Given the description of an element on the screen output the (x, y) to click on. 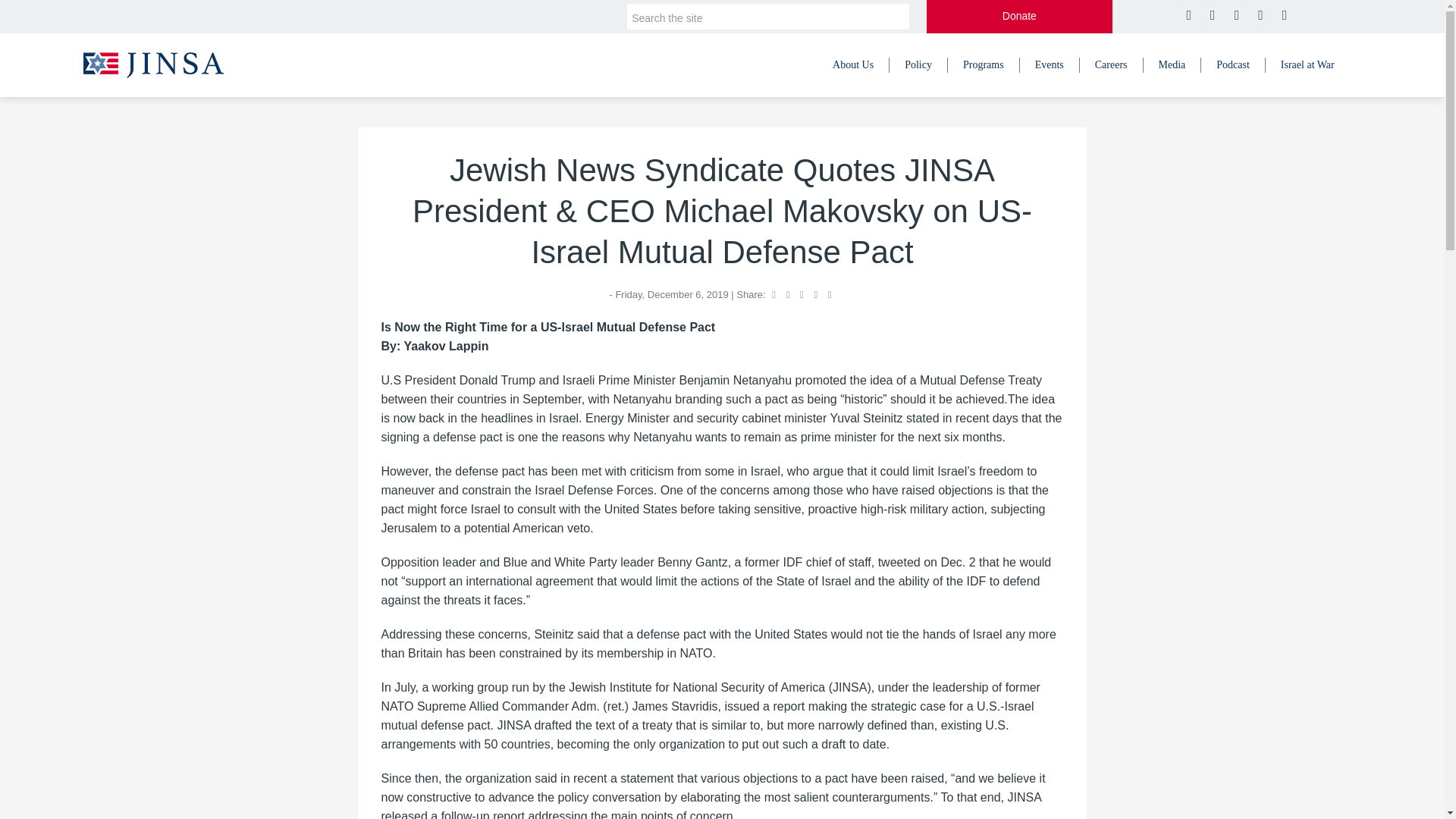
Podcast (1233, 64)
Programs (983, 64)
Israel at War (1307, 64)
linkedin (1235, 14)
Tweet This (788, 294)
Share on Facebook (773, 294)
twitter (1187, 14)
Go (889, 16)
Events (1050, 64)
Media (1172, 64)
Policy (918, 64)
rss (1283, 14)
Careers (1111, 64)
JINSA (153, 64)
facebook (1210, 14)
